Given the description of an element on the screen output the (x, y) to click on. 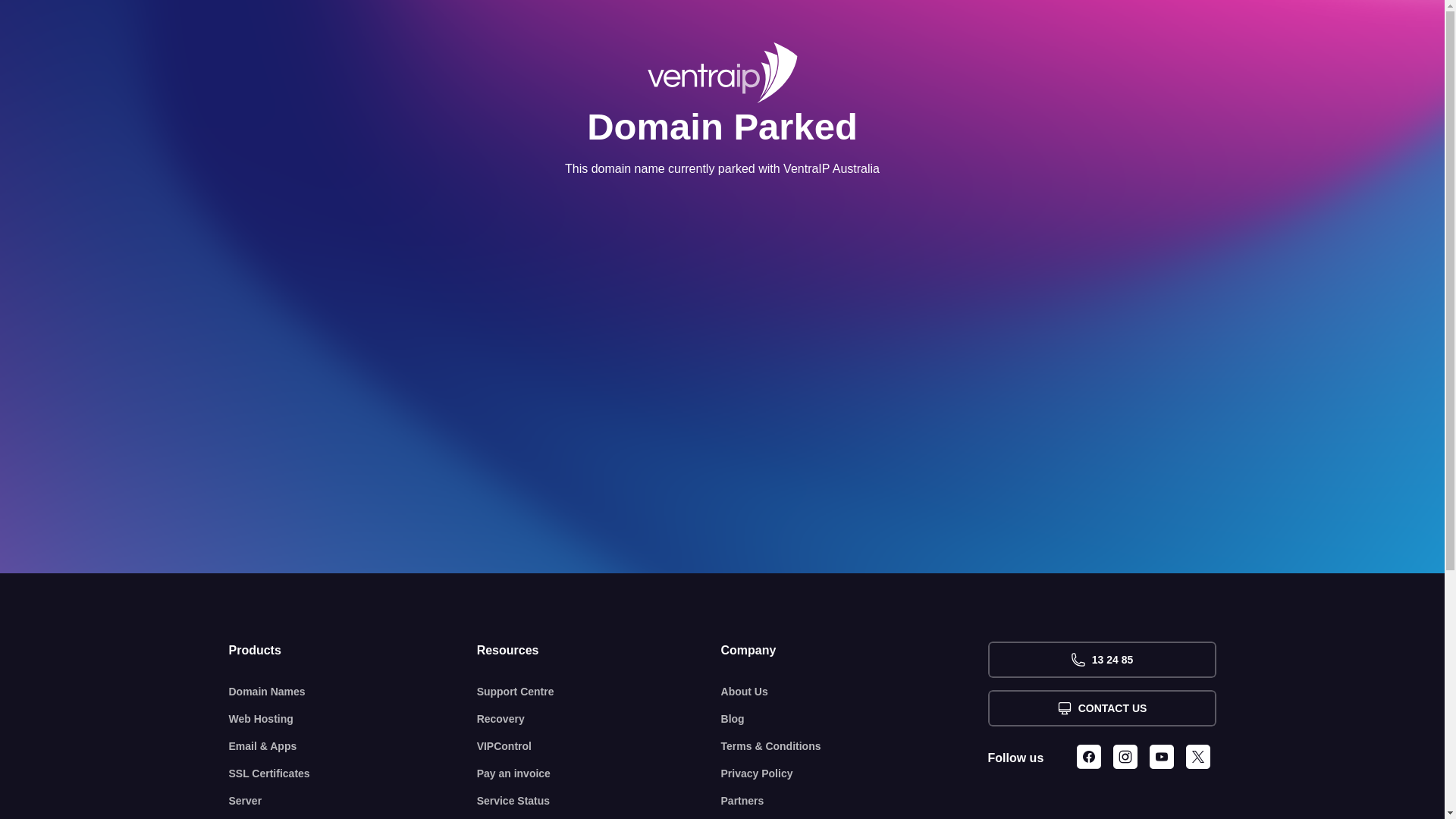
About Us Element type: text (854, 691)
CONTACT US Element type: text (1101, 708)
Web Hosting Element type: text (352, 718)
13 24 85 Element type: text (1101, 659)
Support Centre Element type: text (598, 691)
Pay an invoice Element type: text (598, 773)
SSL Certificates Element type: text (352, 773)
Server Element type: text (352, 800)
Service Status Element type: text (598, 800)
Domain Names Element type: text (352, 691)
Privacy Policy Element type: text (854, 773)
VIPControl Element type: text (598, 745)
Email & Apps Element type: text (352, 745)
Recovery Element type: text (598, 718)
Partners Element type: text (854, 800)
Blog Element type: text (854, 718)
Terms & Conditions Element type: text (854, 745)
